Given the description of an element on the screen output the (x, y) to click on. 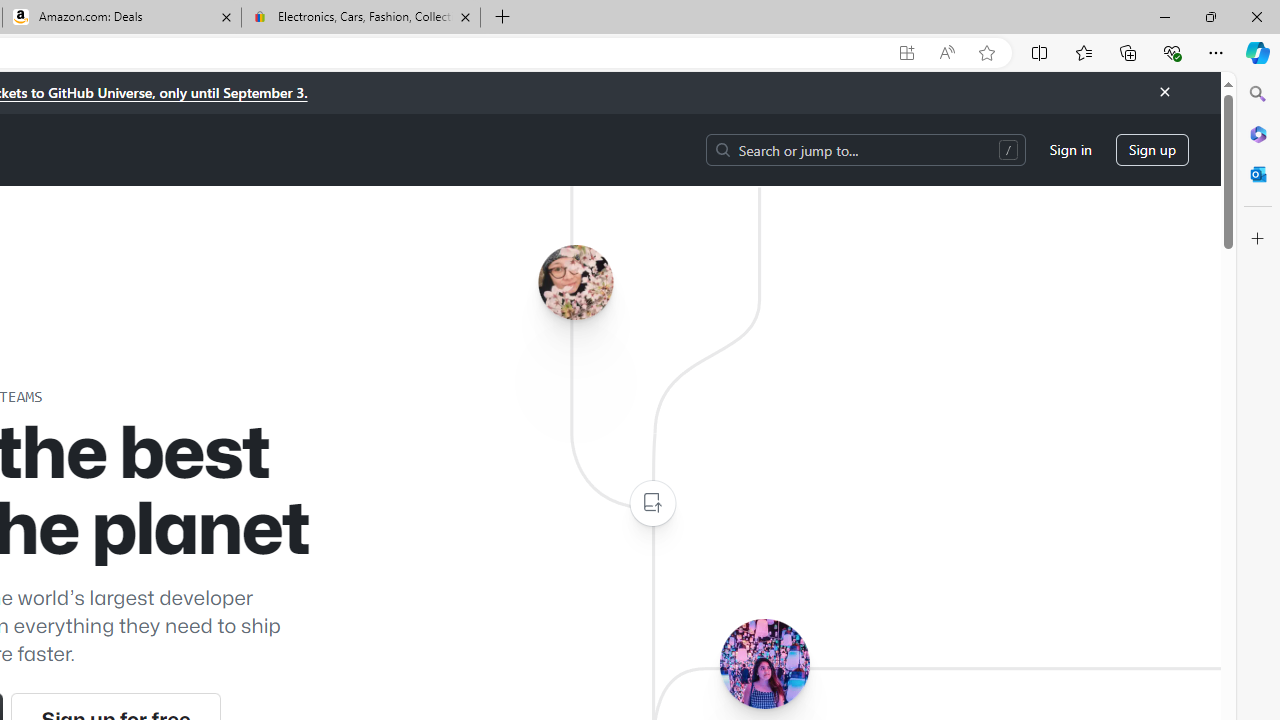
Electronics, Cars, Fashion, Collectibles & More | eBay (360, 17)
Avatar of the user teenage-witch (764, 663)
App available. Install GitHub (906, 53)
Avatar of the user ohjoycelau (575, 281)
Sign up (1152, 149)
